Given the description of an element on the screen output the (x, y) to click on. 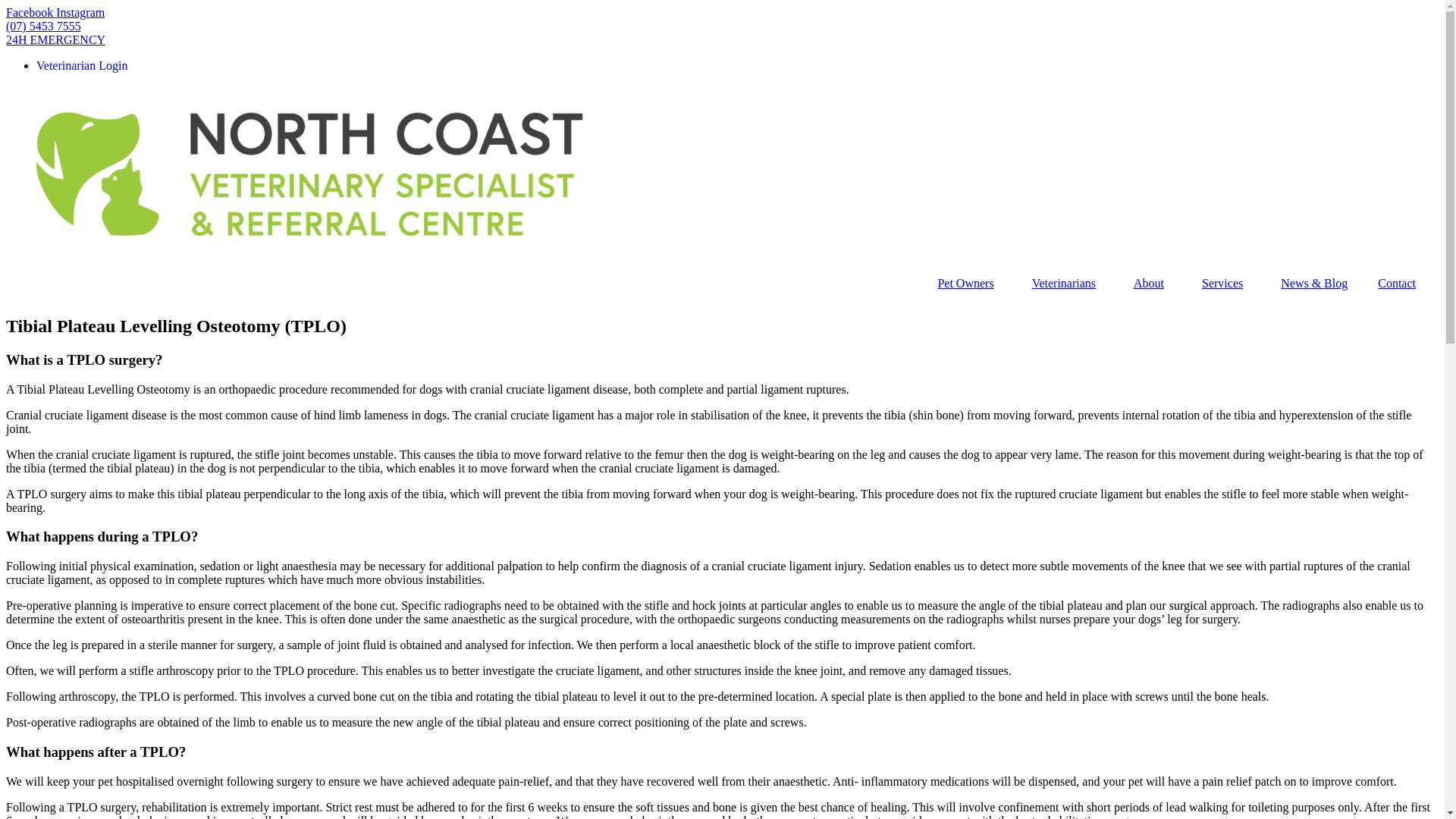
Services Element type: text (1225, 283)
Skip to content Element type: text (5, 5)
24H EMERGENCY Element type: text (55, 39)
Veterinarians Element type: text (1067, 283)
Veterinarian Login Element type: text (81, 65)
Instagram Element type: text (80, 12)
Pet Owners Element type: text (969, 283)
(07) 5453 7555 Element type: text (43, 25)
Contact Element type: text (1400, 283)
Facebook Element type: text (31, 12)
About Element type: text (1152, 283)
News & Blog Element type: text (1313, 283)
